Given the description of an element on the screen output the (x, y) to click on. 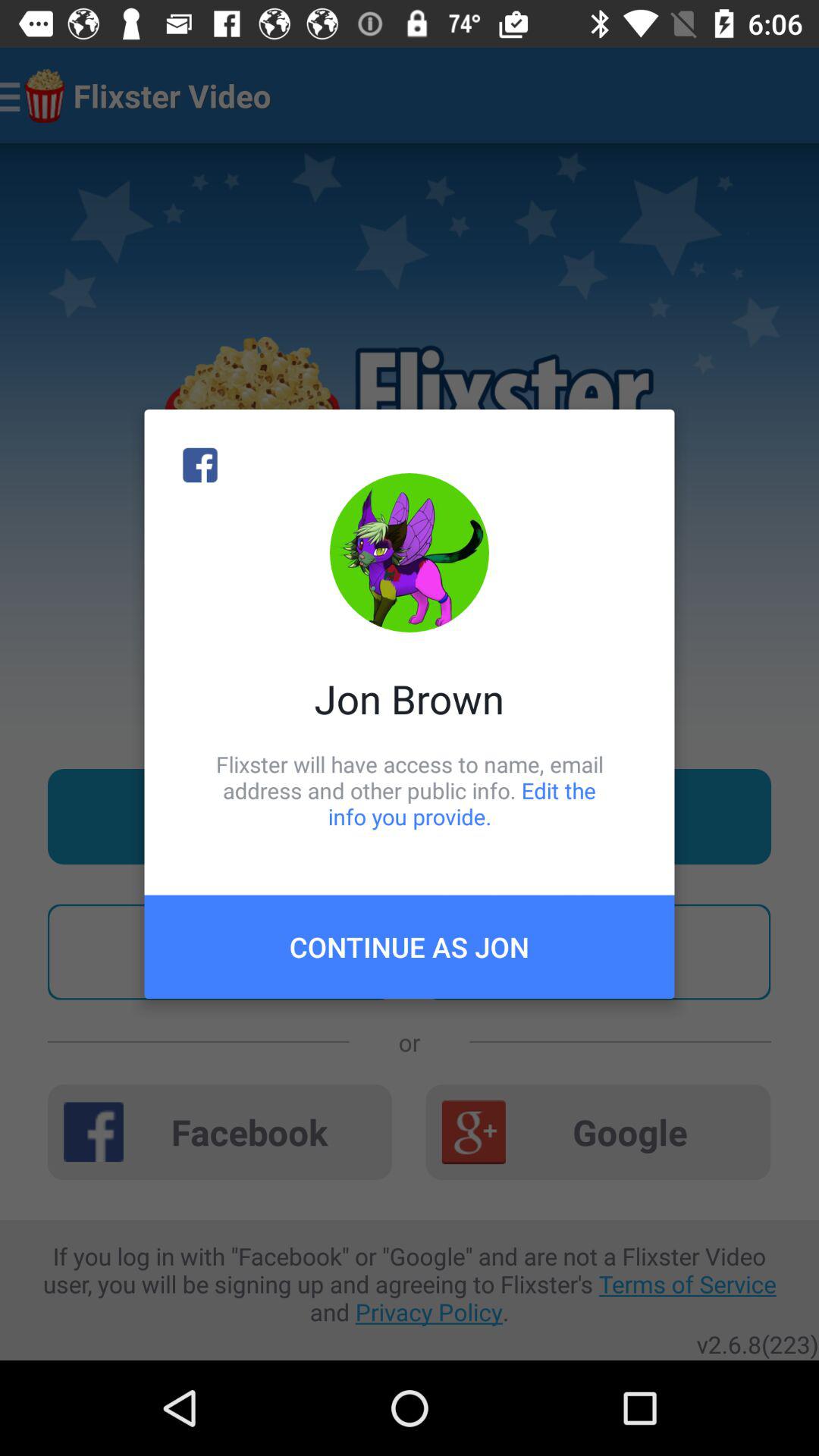
swipe until continue as jon item (409, 946)
